Given the description of an element on the screen output the (x, y) to click on. 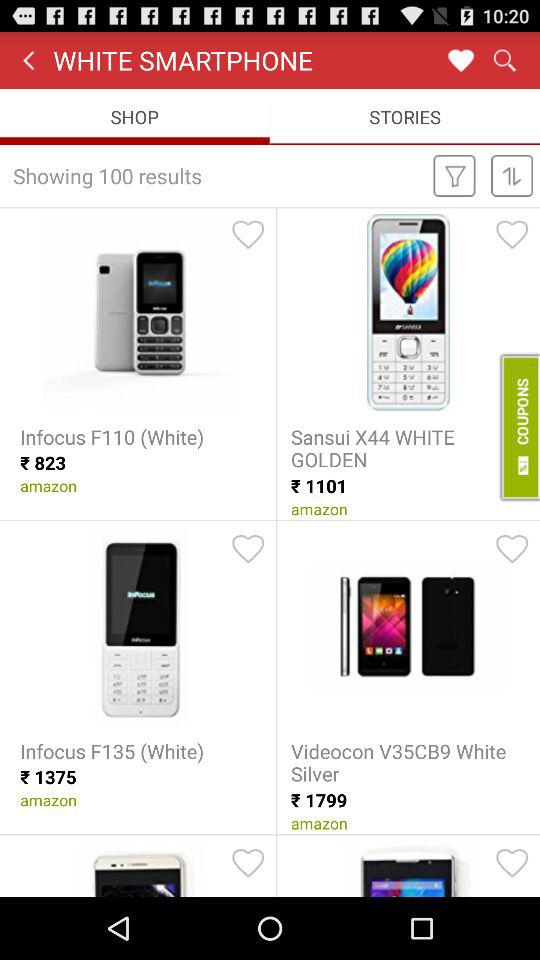
go to second icon beside the text showing 100 results (511, 175)
select favourite icon above infocus f135white (247, 549)
click on the favourites icon which is below the coupons button (511, 549)
go to coupons (518, 427)
